Given the description of an element on the screen output the (x, y) to click on. 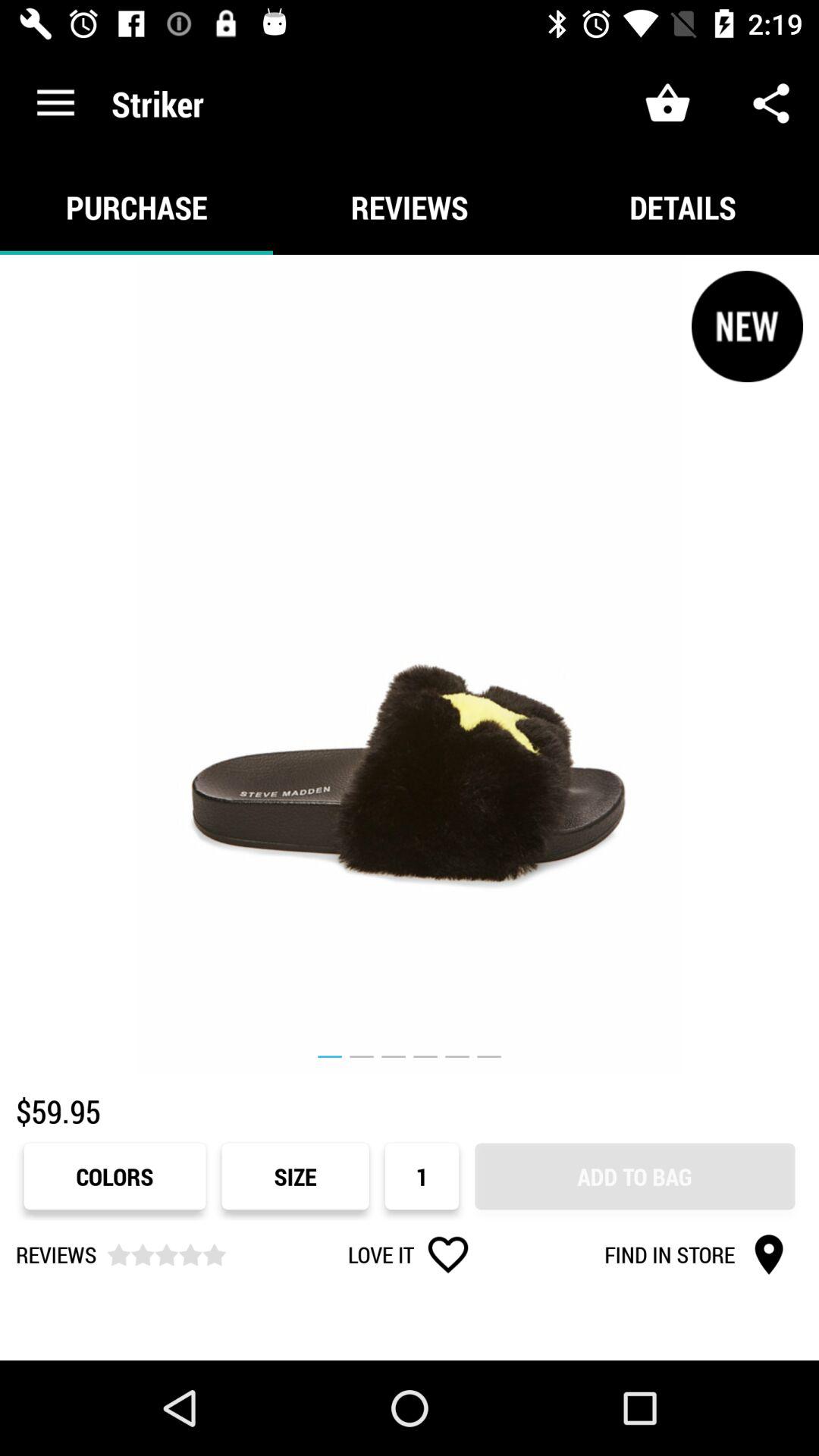
launch item below the purchase (409, 663)
